Given the description of an element on the screen output the (x, y) to click on. 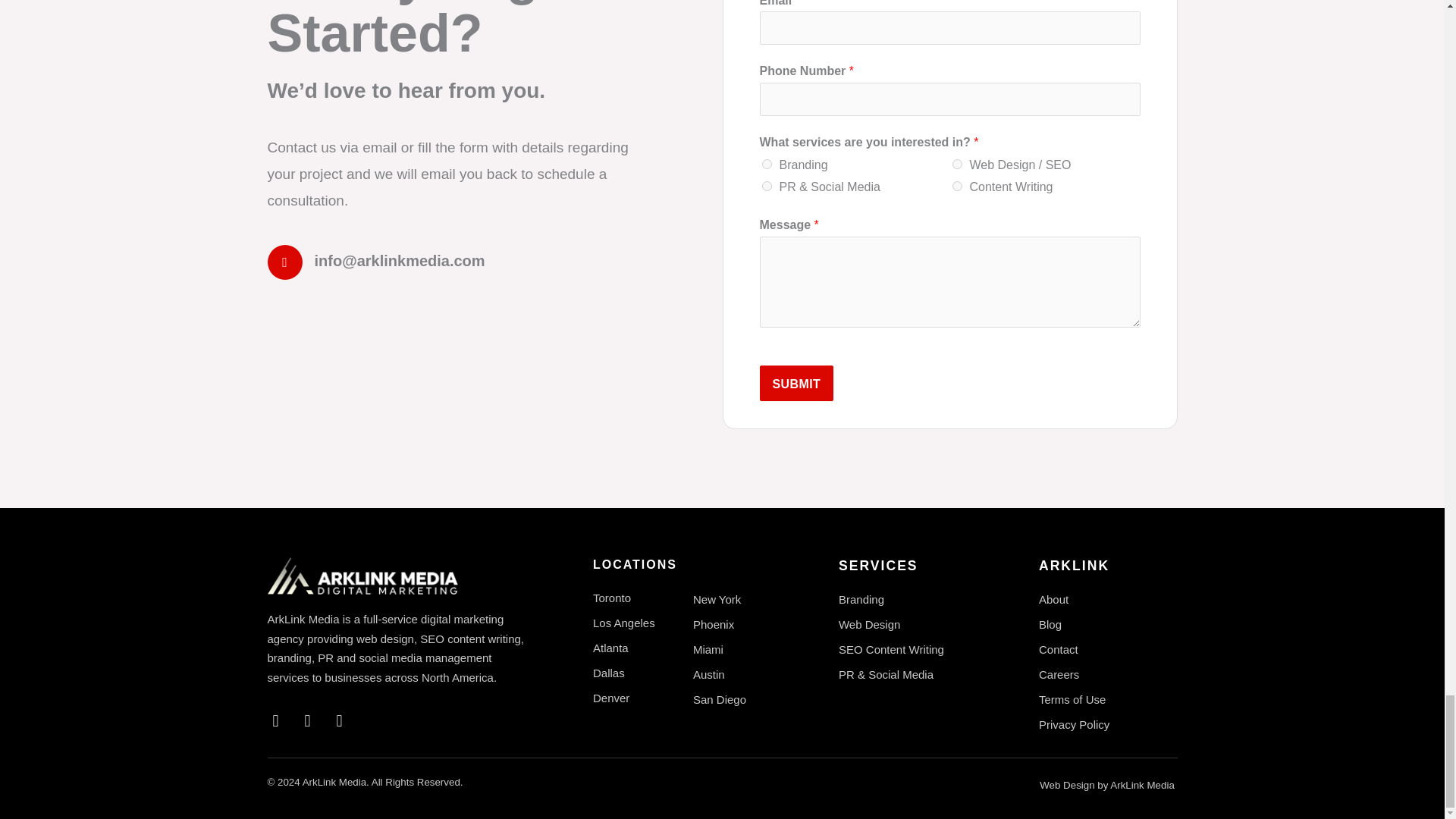
Branding (766, 163)
Content Writing  (957, 185)
